Given the description of an element on the screen output the (x, y) to click on. 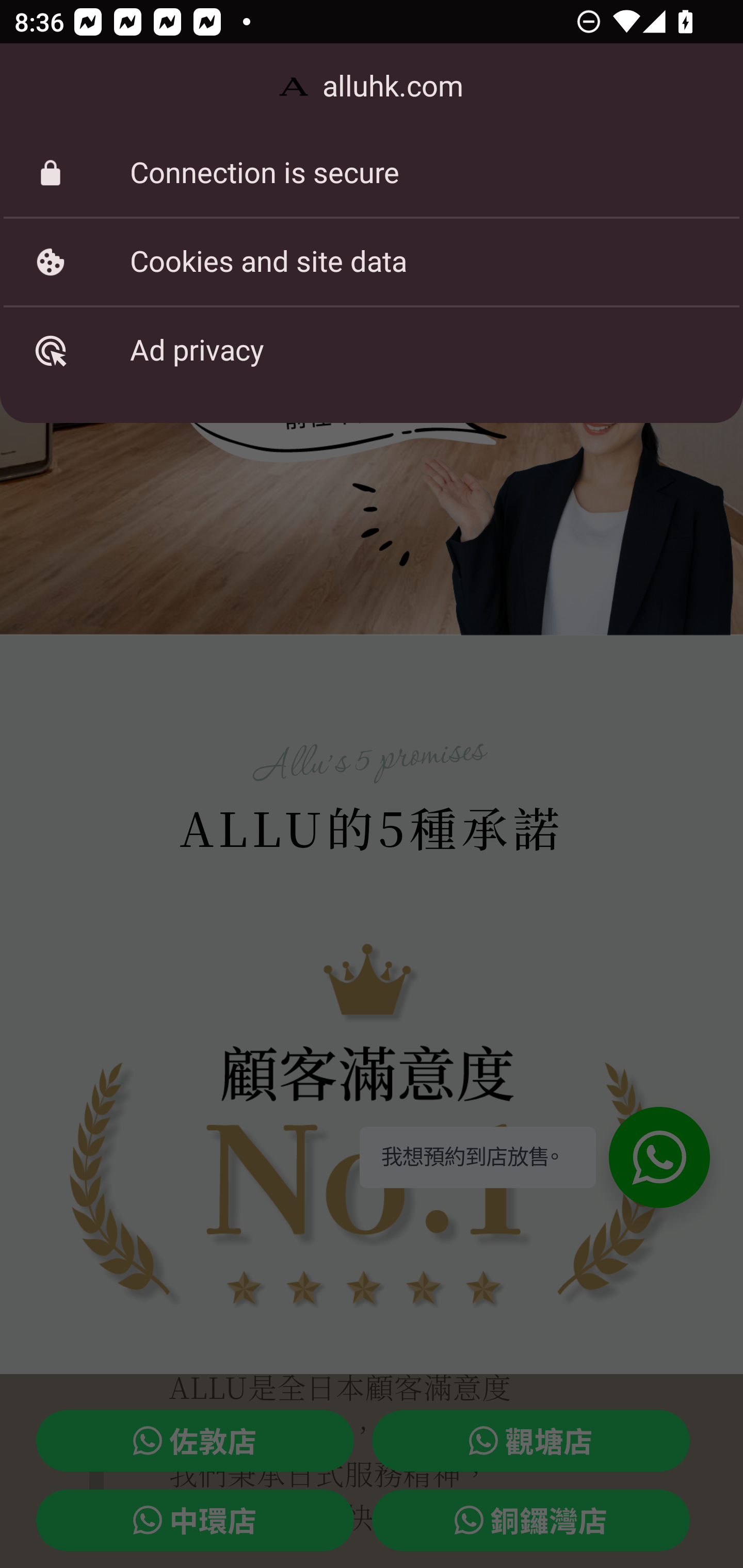
alluhk.com (371, 86)
Connection is secure (371, 173)
Cookies and site data (371, 261)
Ad privacy (371, 350)
